Given the description of an element on the screen output the (x, y) to click on. 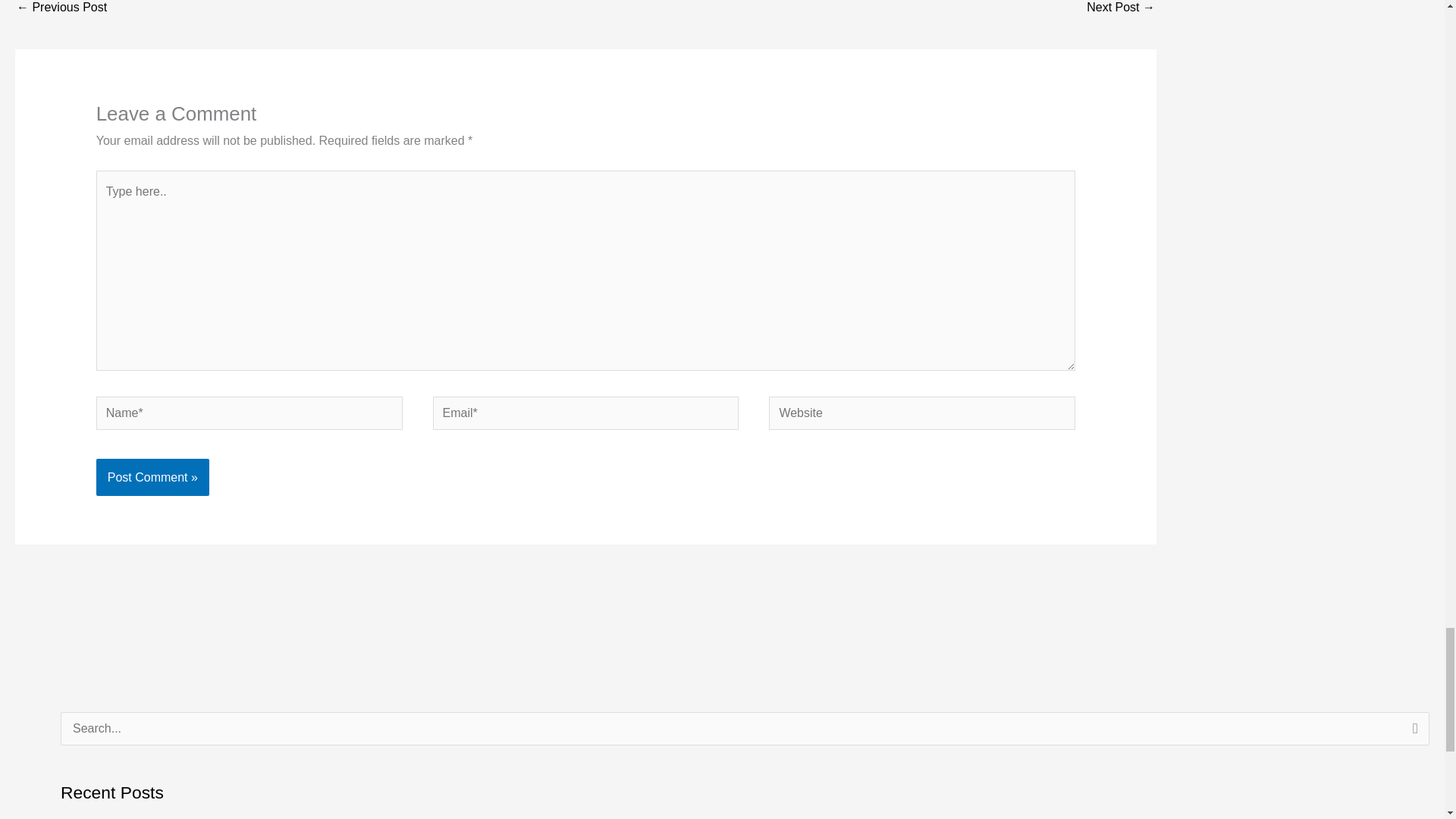
Search (1411, 732)
Search (1411, 732)
